Given the description of an element on the screen output the (x, y) to click on. 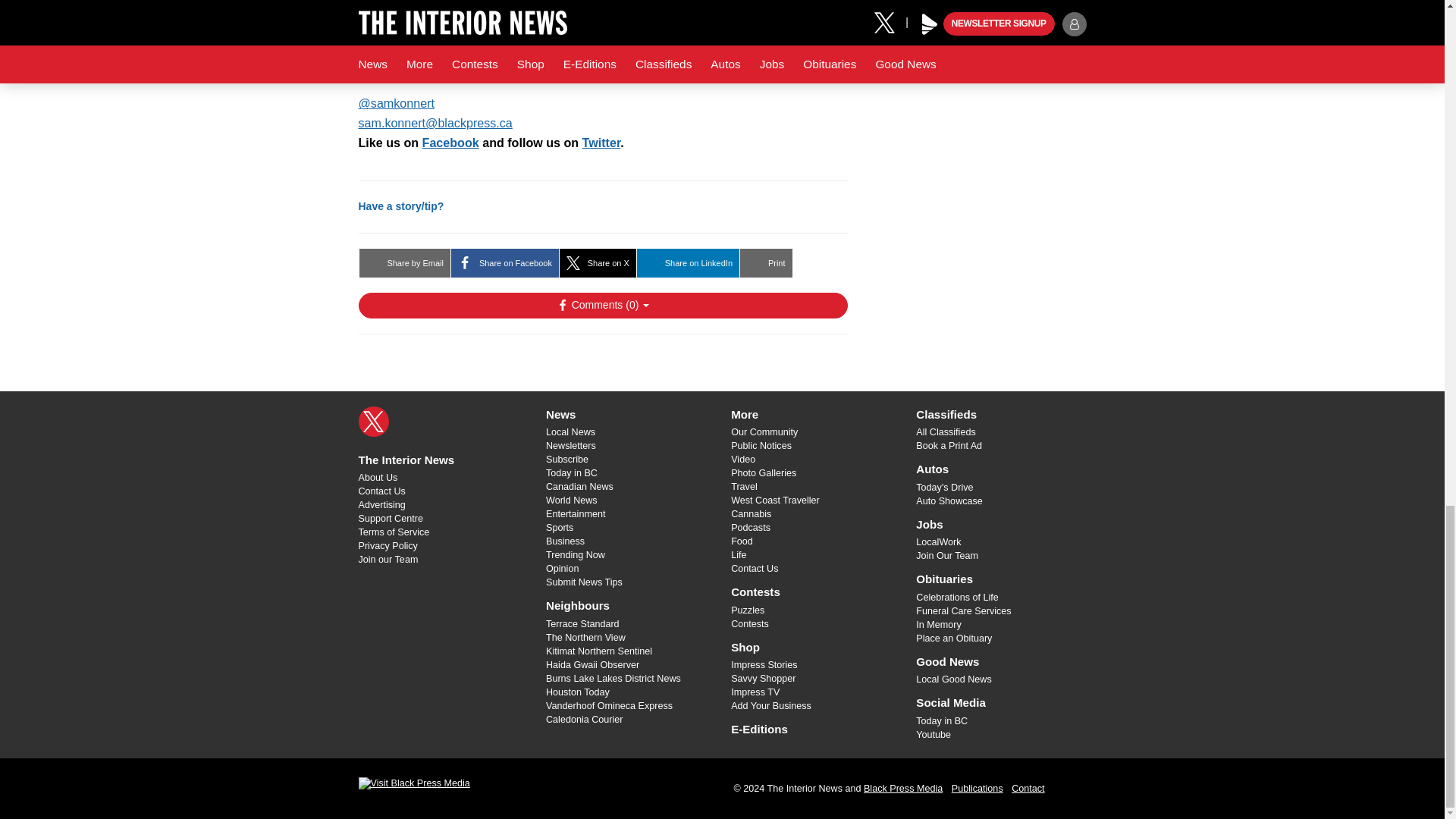
Show Comments (602, 305)
X (373, 421)
